Given the description of an element on the screen output the (x, y) to click on. 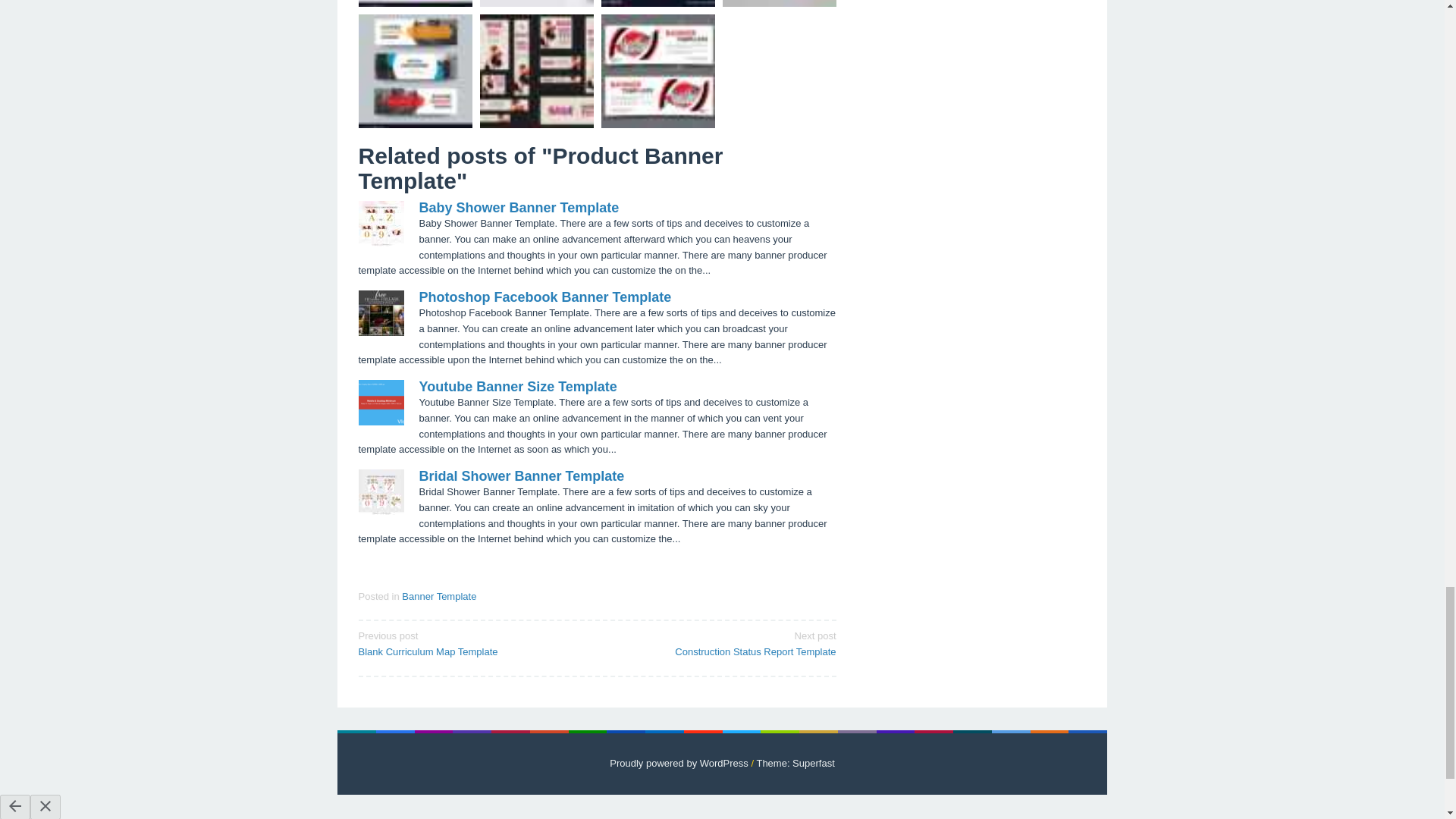
Banner Template (438, 595)
Youtube Banner Size Template (517, 386)
Baby Shower Banner Template (518, 207)
Bridal Shower Banner Template (521, 476)
Photoshop Facebook Banner Template (472, 642)
